Given the description of an element on the screen output the (x, y) to click on. 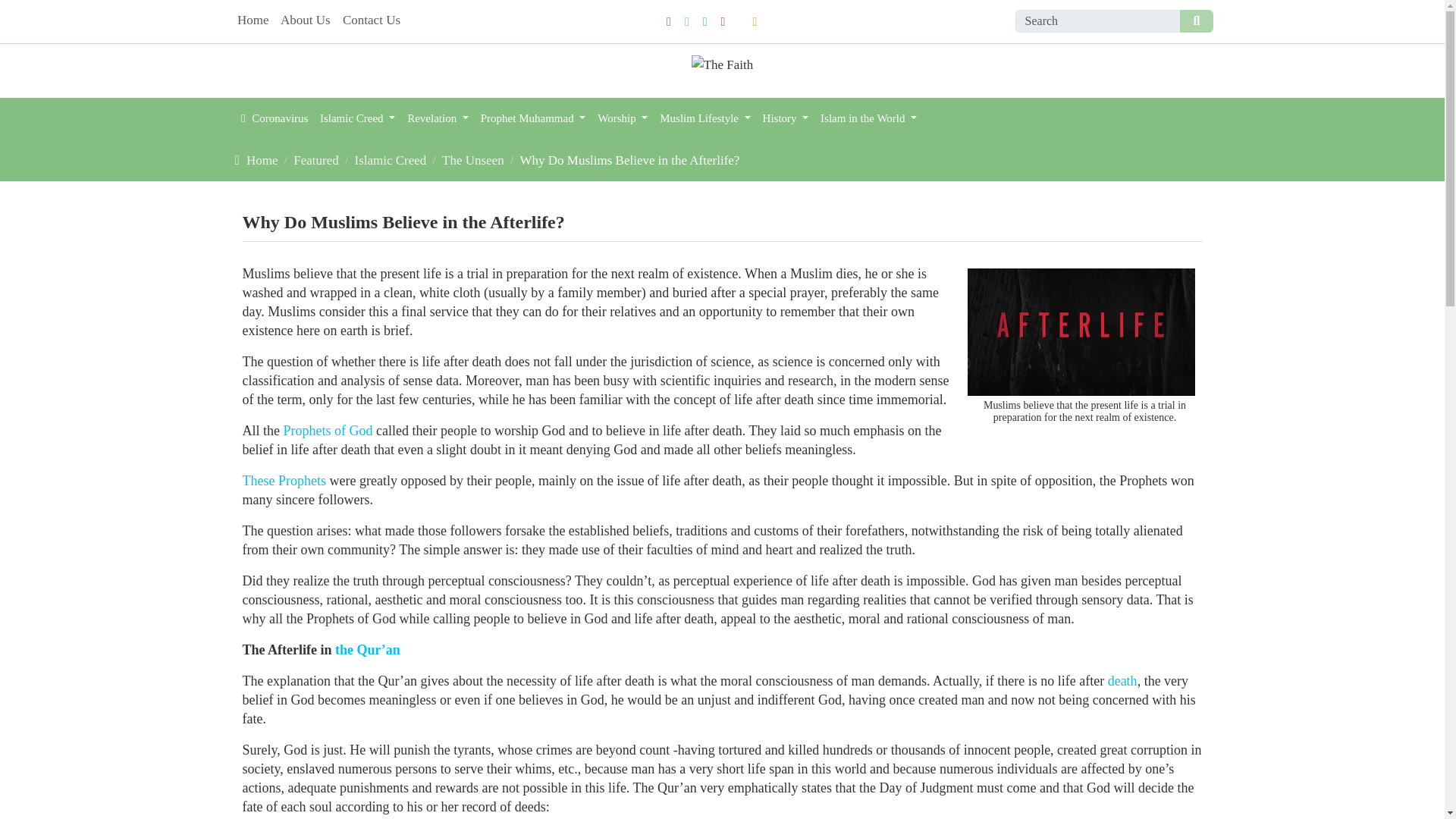
About Us (305, 20)
Home (252, 20)
Contact Us (371, 20)
Home (252, 20)
About Us (305, 20)
Contact Us (371, 20)
